Given the description of an element on the screen output the (x, y) to click on. 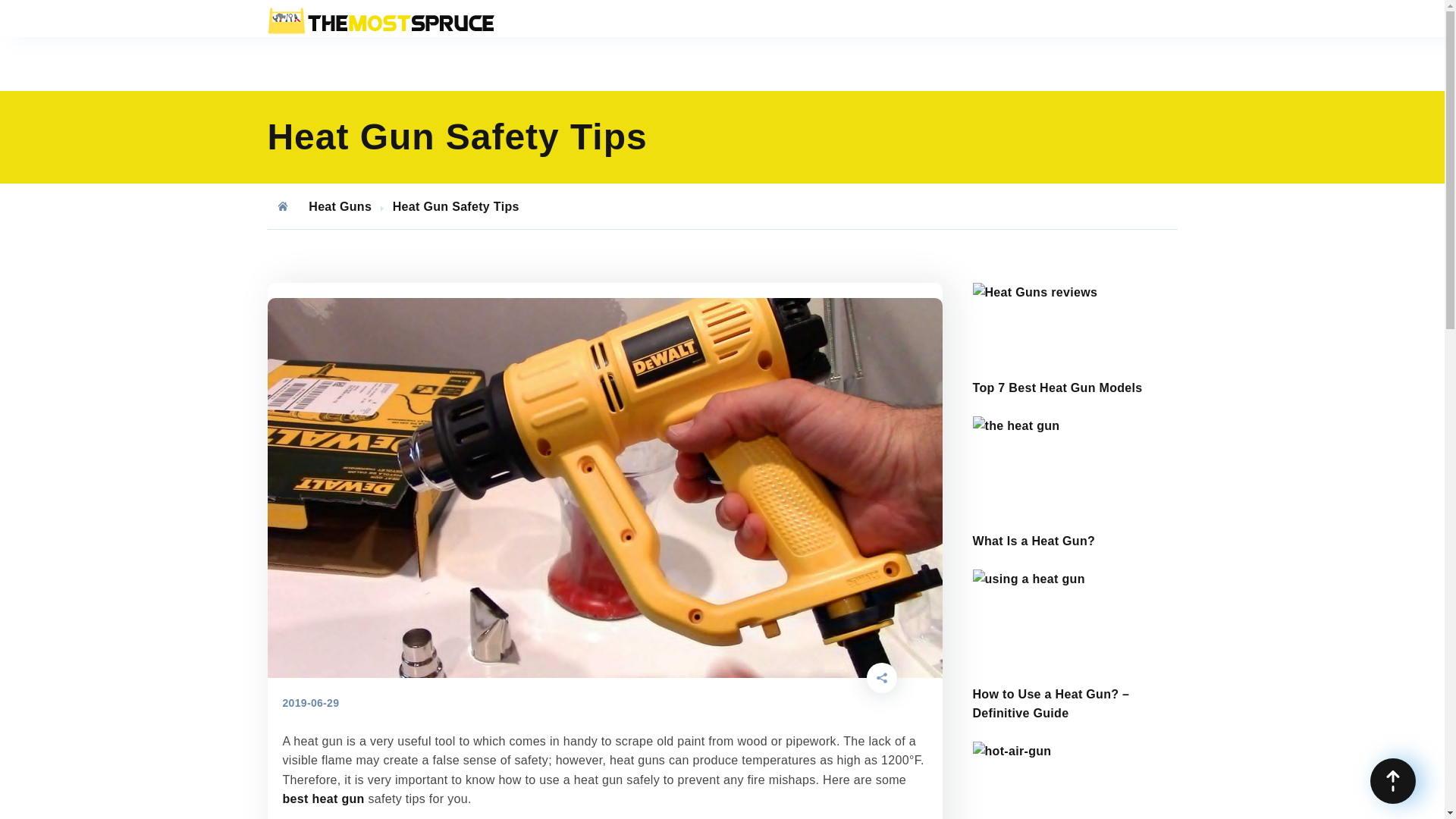
What Is a Heat Gun? (1074, 425)
Heat Guns (339, 205)
What Is a Heat Gun? (1033, 540)
Top 7 Best Heat Gun Models (1074, 291)
Top 7 Best Heat Gun Models (1056, 387)
best heat gun (323, 798)
The Secret of Buying a Heat Gun (1074, 750)
